Given the description of an element on the screen output the (x, y) to click on. 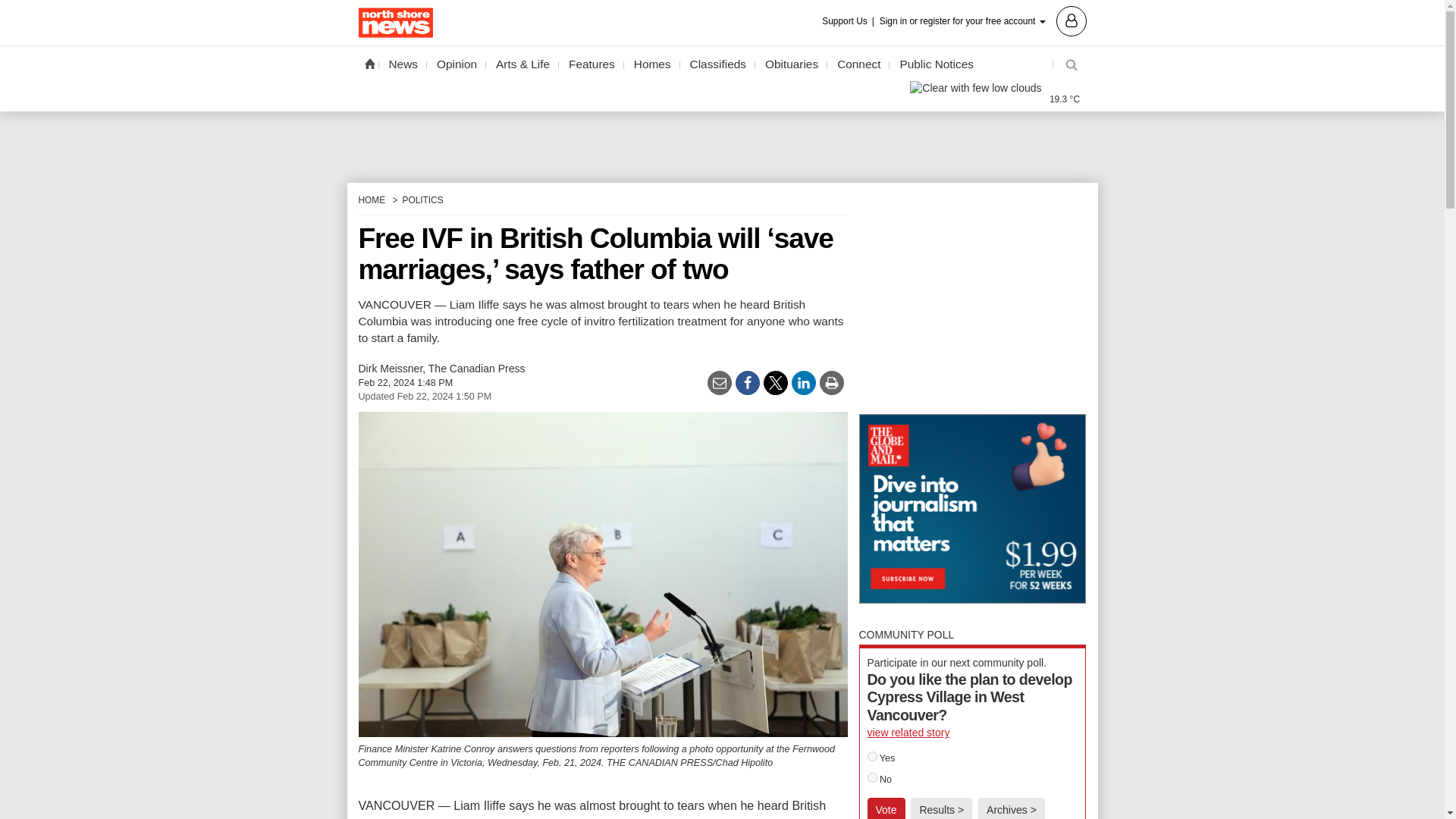
Home (368, 63)
122360 (872, 756)
Support Us (849, 21)
Sign in or register for your free account (982, 20)
122361 (872, 777)
Opinion (456, 64)
News (403, 64)
